Given the description of an element on the screen output the (x, y) to click on. 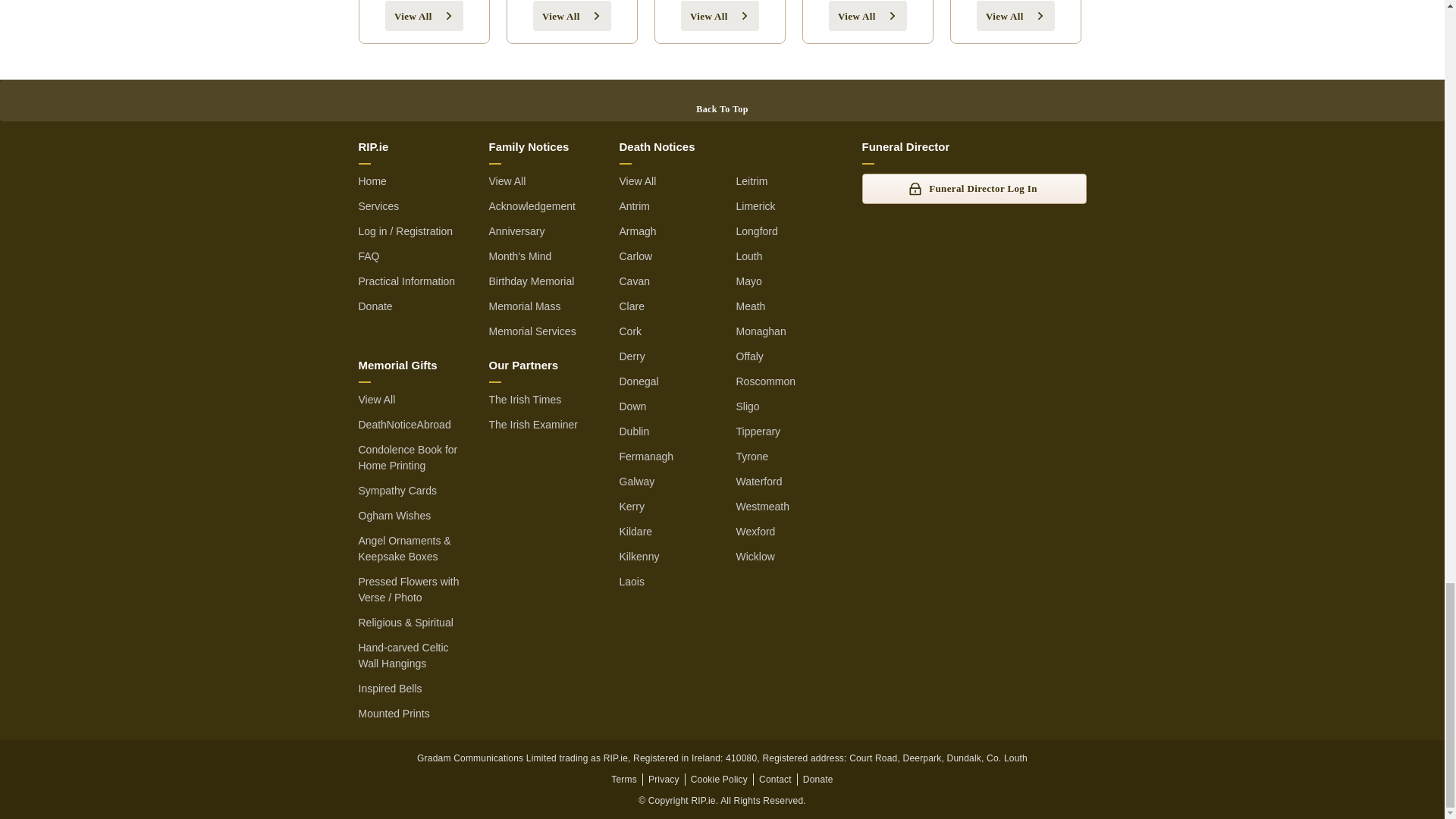
Privacy (663, 779)
Donate (817, 779)
Contact (775, 779)
Terms (624, 779)
Cookie Policy (719, 779)
